Given the description of an element on the screen output the (x, y) to click on. 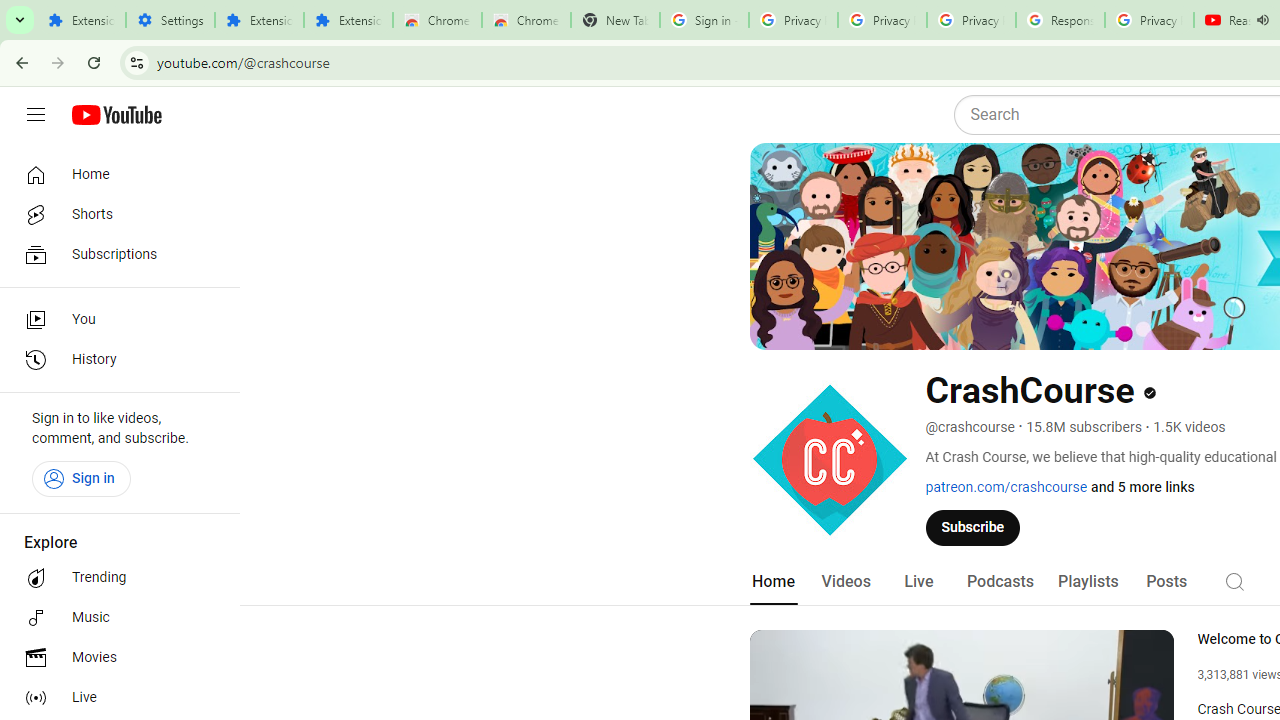
Podcasts (1000, 581)
Posts (1165, 581)
Extensions (347, 20)
Live (918, 581)
Videos (845, 581)
patreon.com/crashcourse (1006, 487)
Sign in - Google Accounts (704, 20)
Chrome Web Store - Themes (526, 20)
Music (113, 617)
Guide (35, 115)
Movies (113, 657)
